Given the description of an element on the screen output the (x, y) to click on. 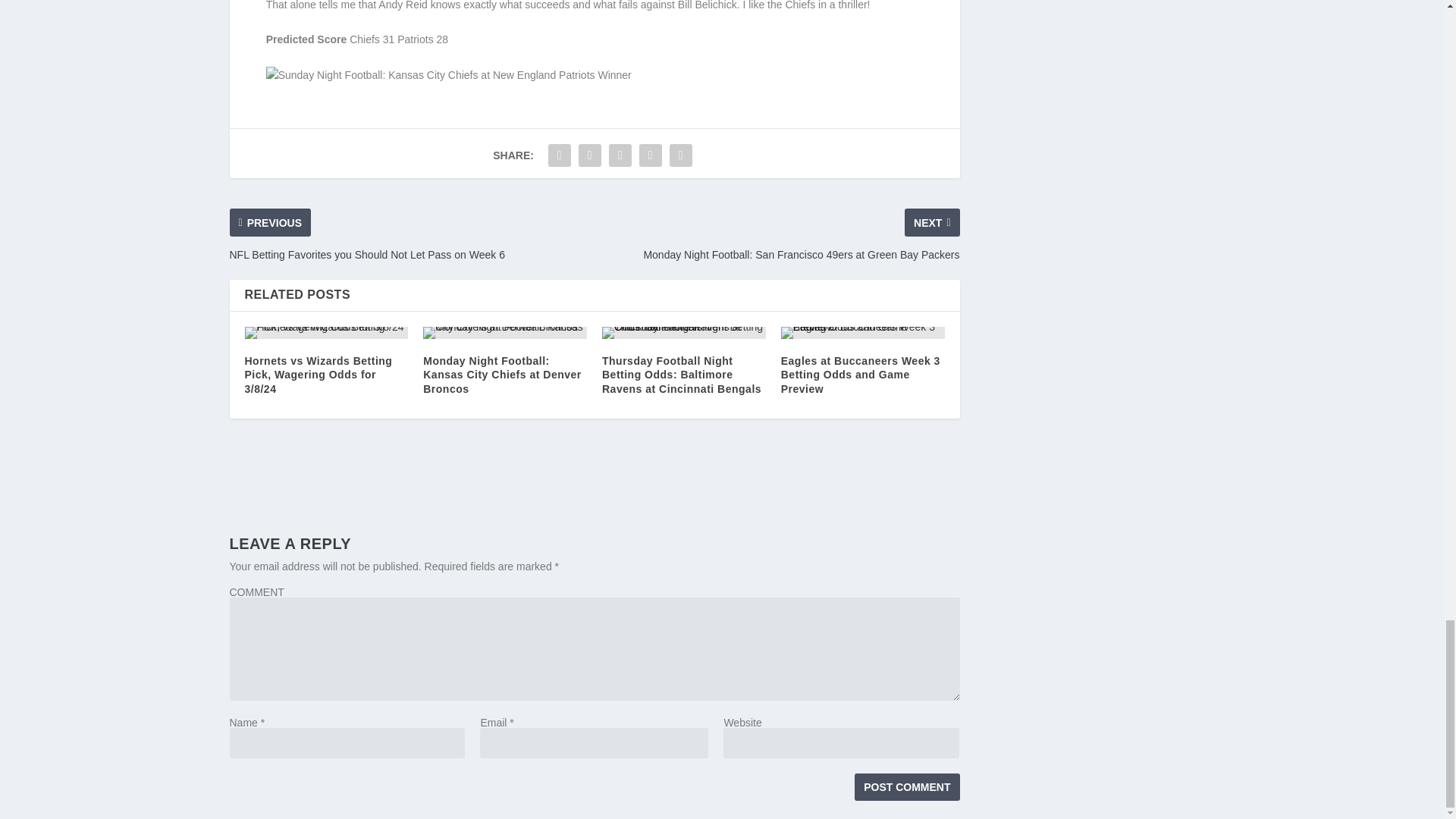
Post Comment (906, 786)
Monday Night Football: Kansas City Chiefs at Denver Broncos (504, 332)
Eagles at Buccaneers Week 3 Betting Odds and Game Preview (862, 332)
